Given the description of an element on the screen output the (x, y) to click on. 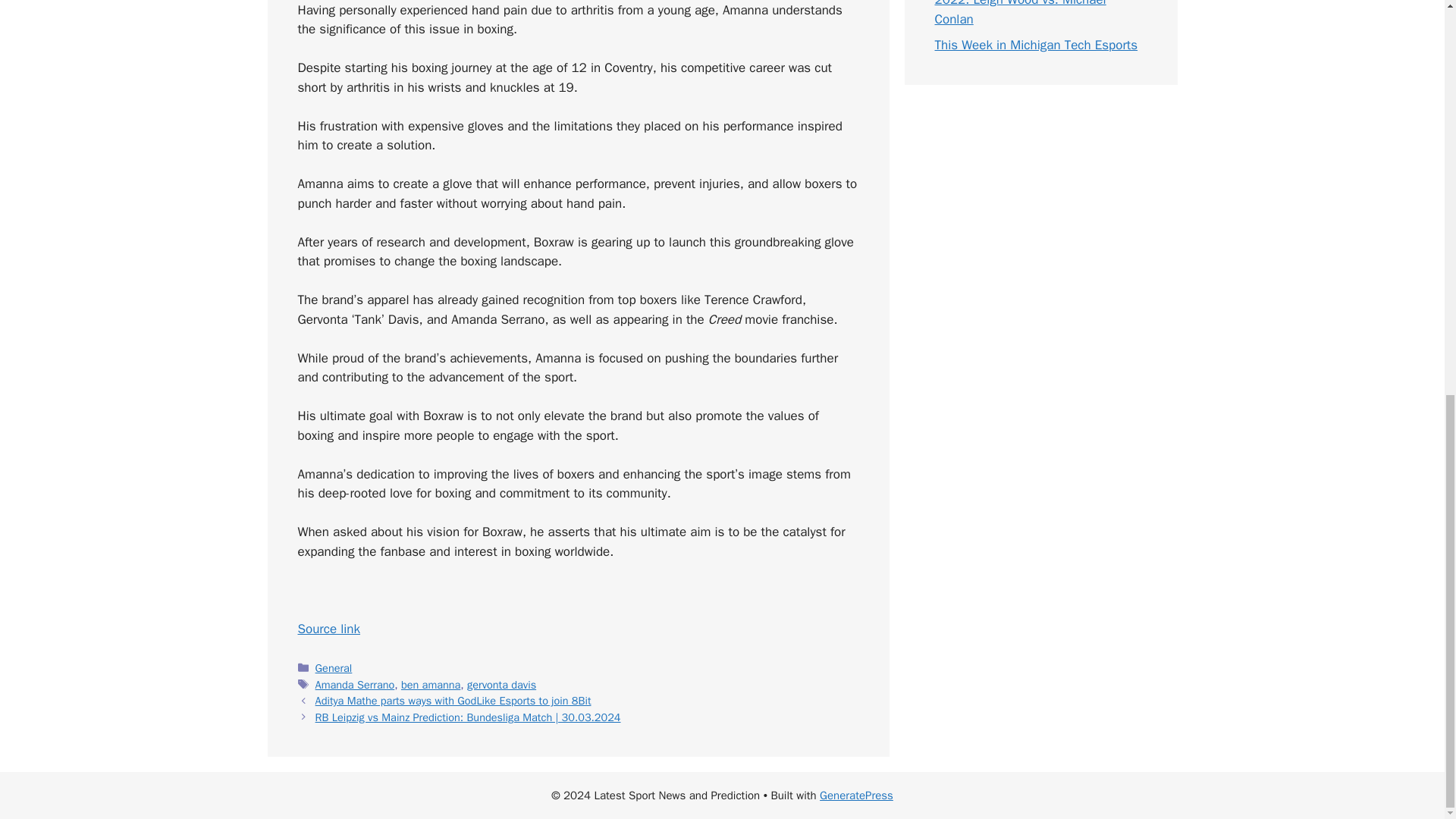
Amanda Serrano (354, 684)
Source link (328, 628)
gervonta davis (501, 684)
ben amanna (430, 684)
General (333, 667)
Aditya Mathe parts ways with GodLike Esports to join 8Bit (453, 700)
